Given the description of an element on the screen output the (x, y) to click on. 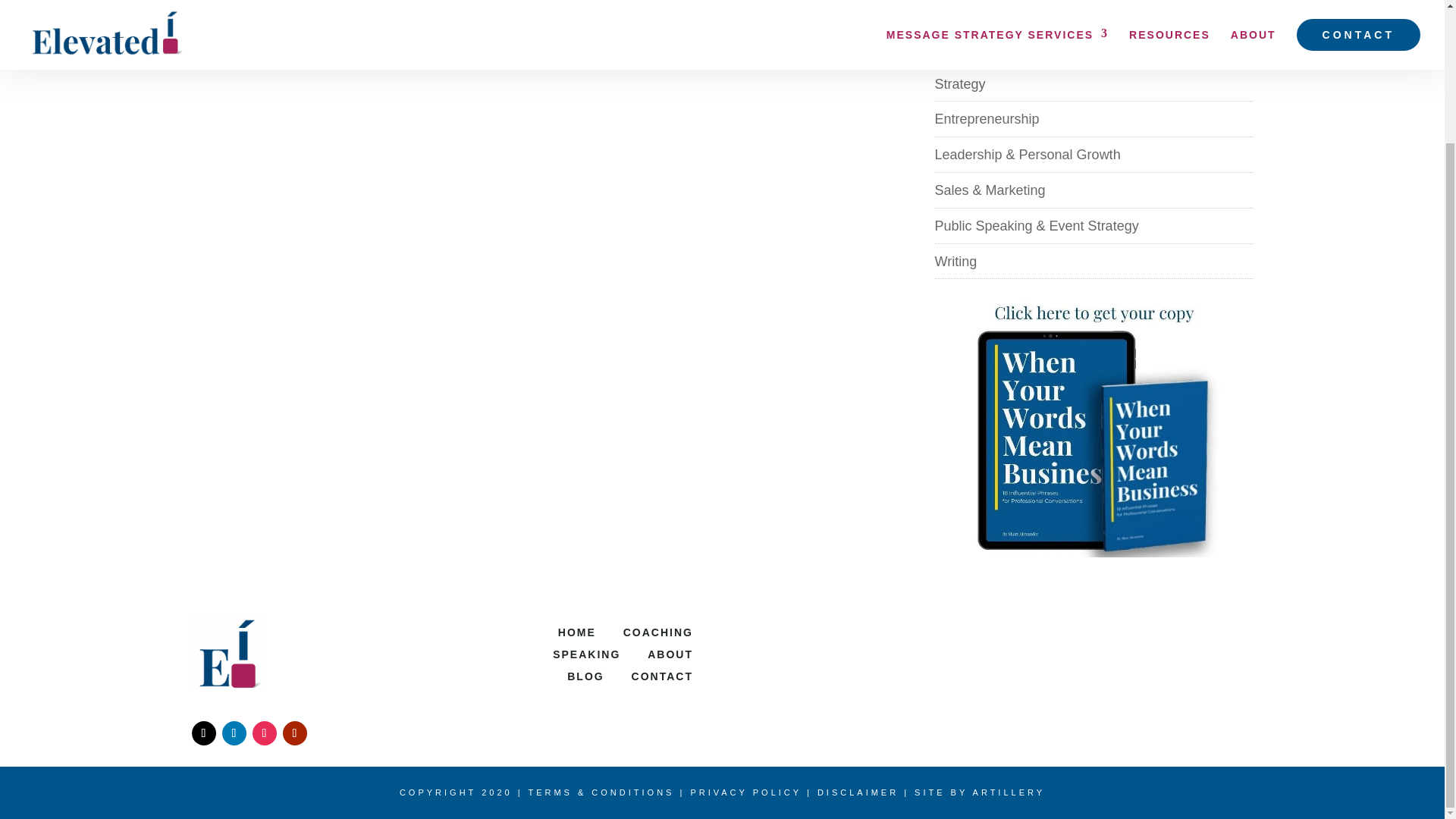
Follow on Youtube (293, 733)
Writing (955, 261)
Follow on Instagram (263, 733)
ARTILLERY (1008, 791)
CONTACT (662, 676)
DISCLAIMER (857, 791)
Entrepreneurship (986, 118)
ABOUT (670, 654)
Follow on X (202, 733)
SPEAKING (586, 654)
